Given the description of an element on the screen output the (x, y) to click on. 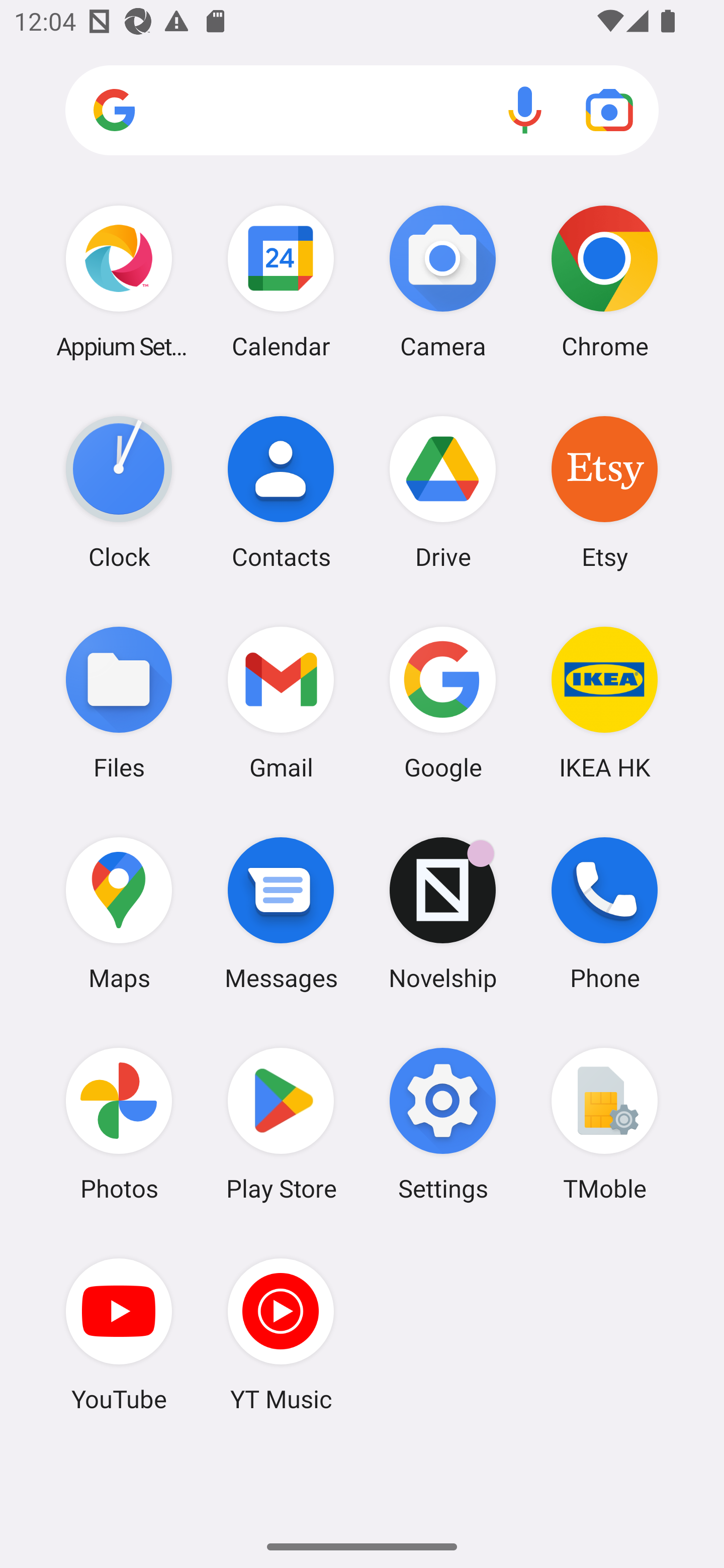
Search apps, web and more (361, 110)
Voice search (524, 109)
Google Lens (608, 109)
Appium Settings (118, 281)
Calendar (280, 281)
Camera (443, 281)
Chrome (604, 281)
Clock (118, 492)
Contacts (280, 492)
Drive (443, 492)
Etsy (604, 492)
Files (118, 702)
Gmail (280, 702)
Google (443, 702)
IKEA HK (604, 702)
Maps (118, 913)
Messages (280, 913)
Novelship Novelship has 6 notifications (443, 913)
Phone (604, 913)
Photos (118, 1124)
Play Store (280, 1124)
Settings (443, 1124)
TMoble (604, 1124)
YouTube (118, 1334)
YT Music (280, 1334)
